Given the description of an element on the screen output the (x, y) to click on. 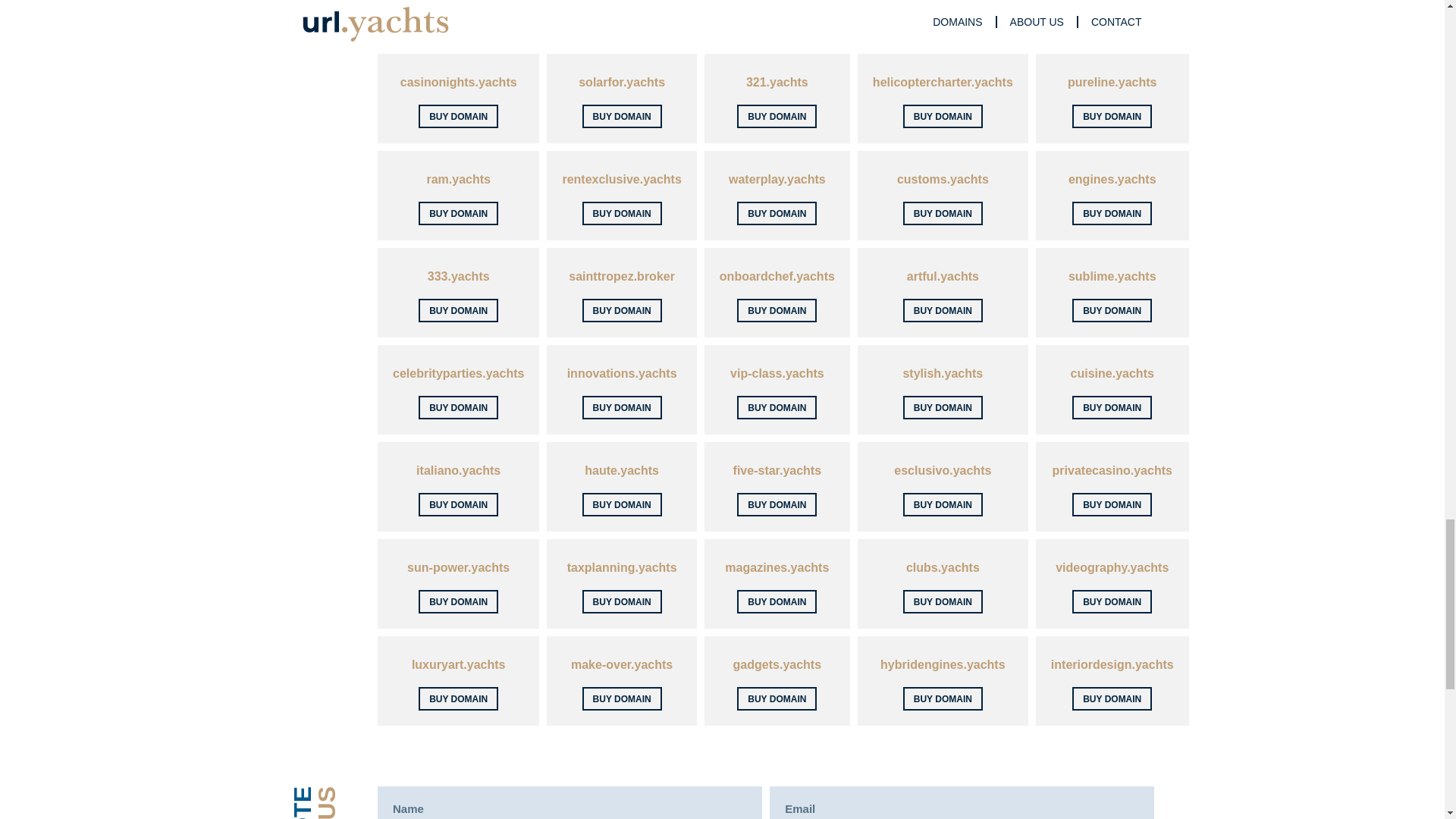
BUY DOMAIN (458, 19)
